Given the description of an element on the screen output the (x, y) to click on. 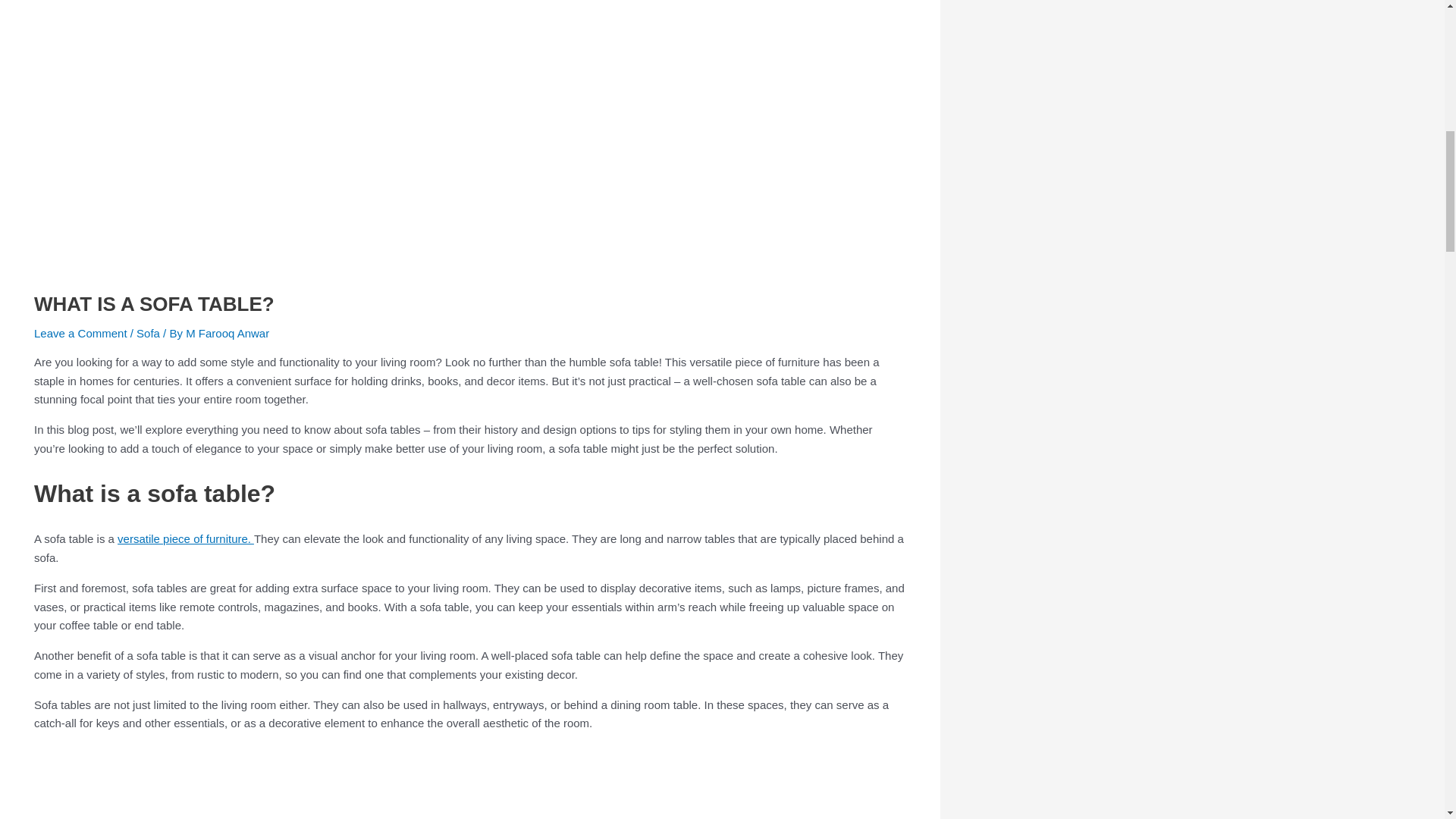
Leave a Comment (80, 332)
M Farooq Anwar (227, 332)
View all posts by M Farooq Anwar (227, 332)
Sofa (148, 332)
versatile piece of furniture. (185, 538)
